Given the description of an element on the screen output the (x, y) to click on. 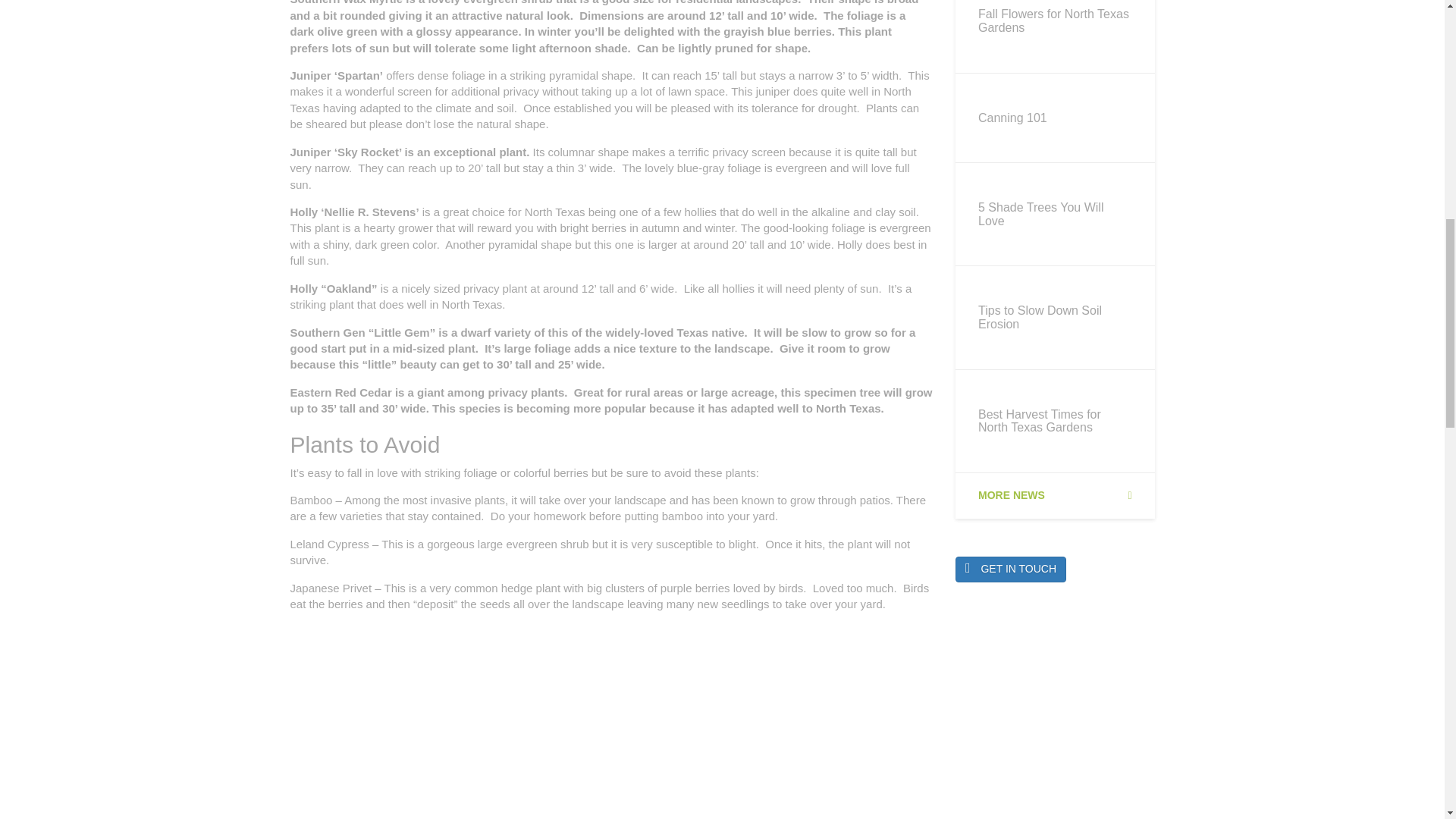
Fall Flowers for North Texas Gardens (1054, 36)
